Given the description of an element on the screen output the (x, y) to click on. 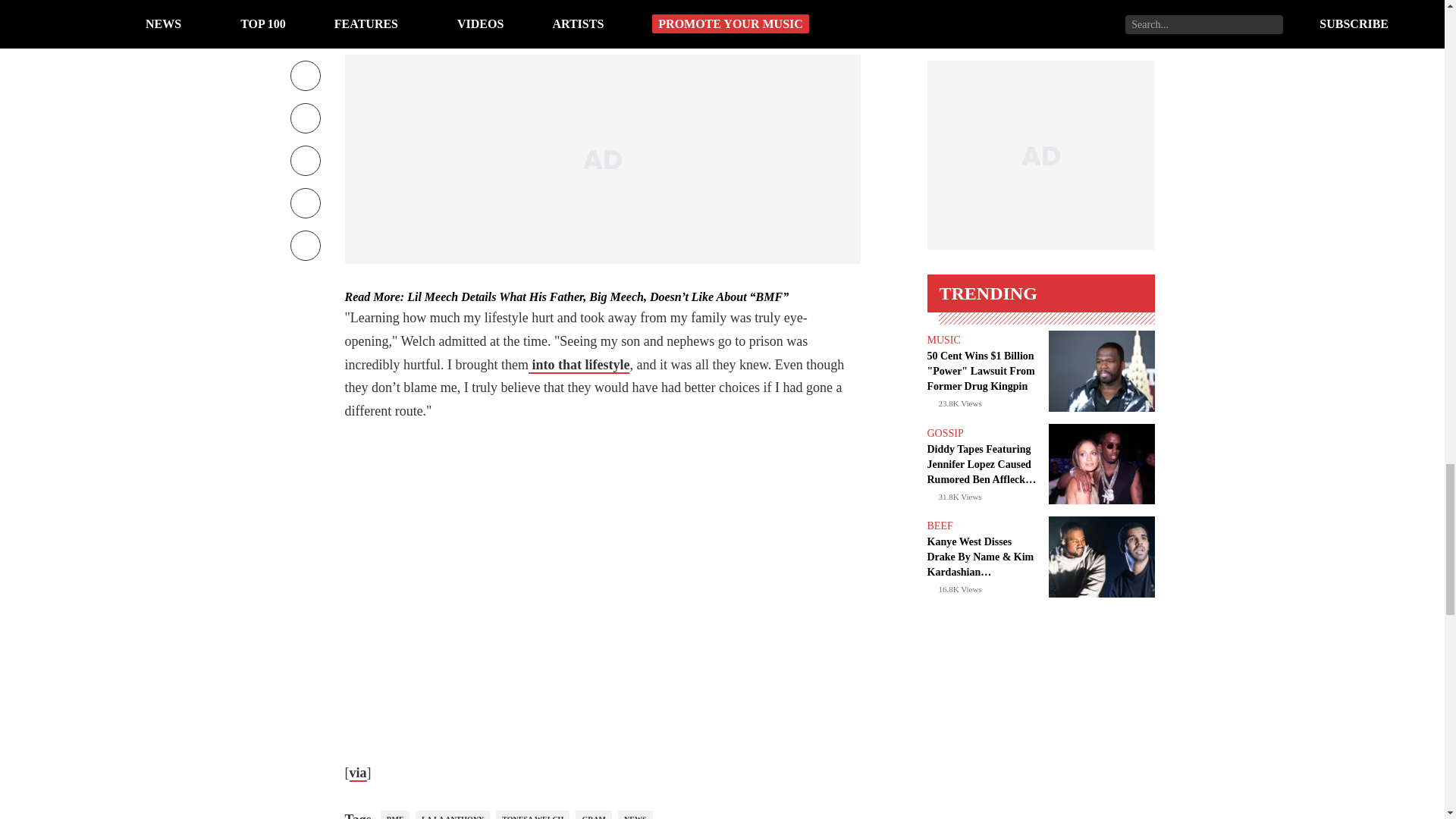
NEWS (634, 814)
GRAM (593, 814)
via (357, 773)
TONESA WELCH (532, 814)
BMF (394, 814)
LA LA ANTHONY (451, 814)
into that lifestyle (578, 365)
